Given the description of an element on the screen output the (x, y) to click on. 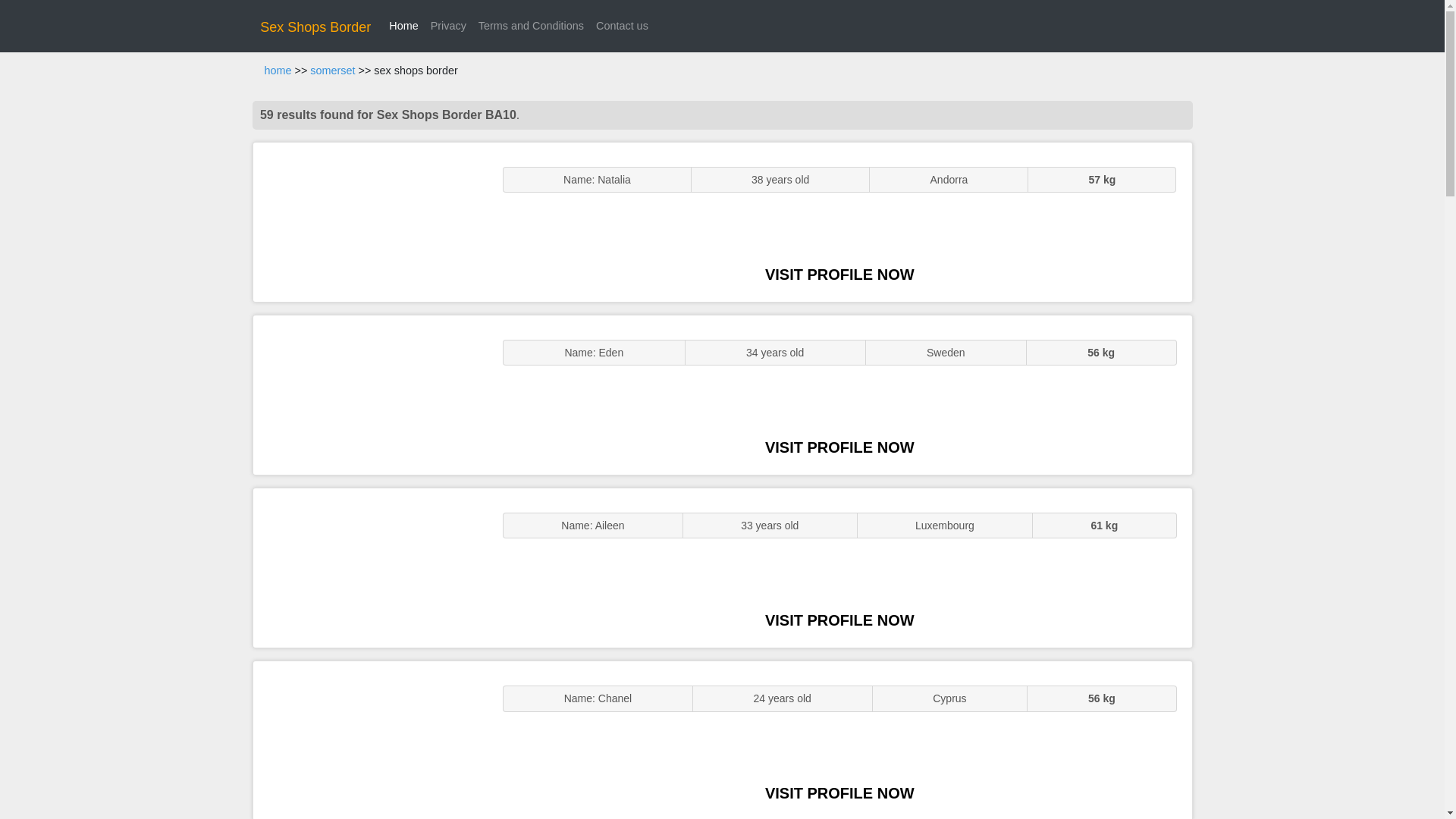
VISIT PROFILE NOW (839, 792)
Sluts (370, 739)
GFE (370, 395)
home (277, 70)
Terms and Conditions (530, 25)
VISIT PROFILE NOW (839, 446)
VISIT PROFILE NOW (839, 274)
Sexy (370, 567)
VISIT PROFILE NOW (839, 619)
Contact us (621, 25)
Sex Shops Border (315, 27)
 ENGLISH STUNNER (370, 222)
Privacy (448, 25)
somerset (332, 70)
